Given the description of an element on the screen output the (x, y) to click on. 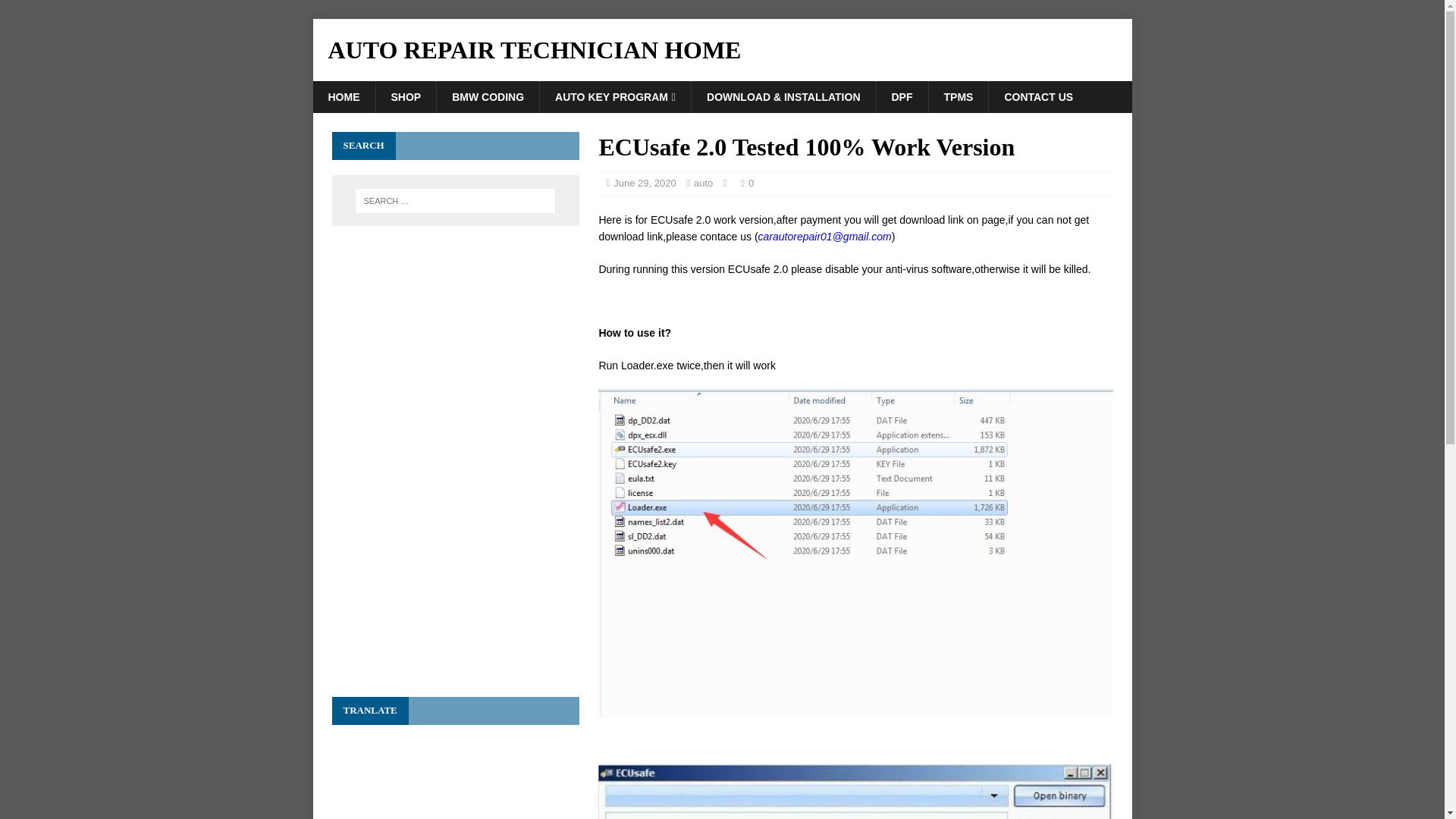
DPF (901, 97)
CONTACT US (1037, 97)
Auto Repair Technician Home (721, 49)
BMW CODING (486, 97)
TPMS (958, 97)
AUTO REPAIR TECHNICIAN HOME (721, 49)
Advertisement (455, 563)
SHOP (404, 97)
Search (56, 11)
auto (703, 183)
